Given the description of an element on the screen output the (x, y) to click on. 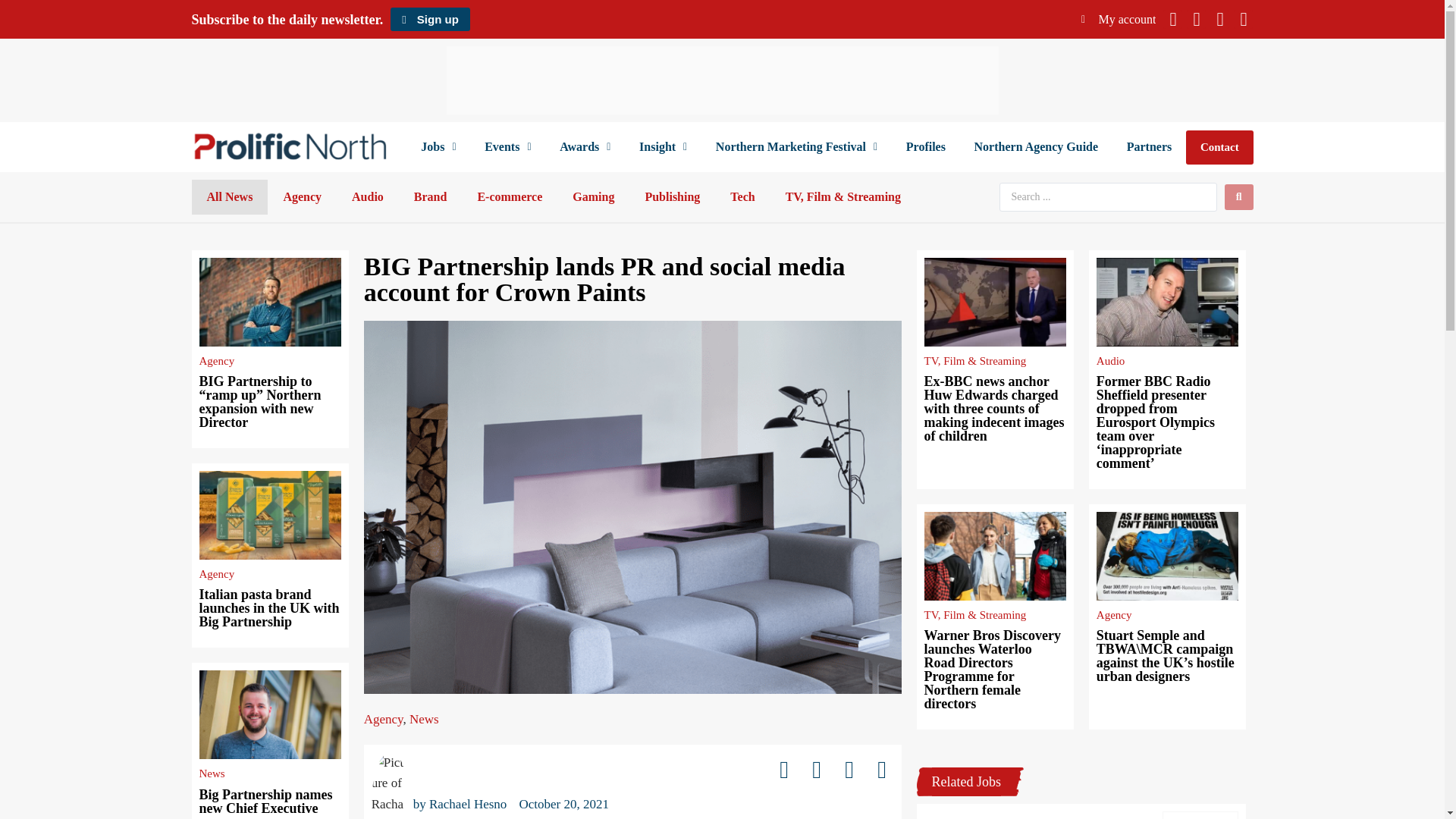
Sign up (429, 19)
Awards (584, 146)
Jobs (438, 146)
Events (507, 146)
My account (1118, 19)
